Given the description of an element on the screen output the (x, y) to click on. 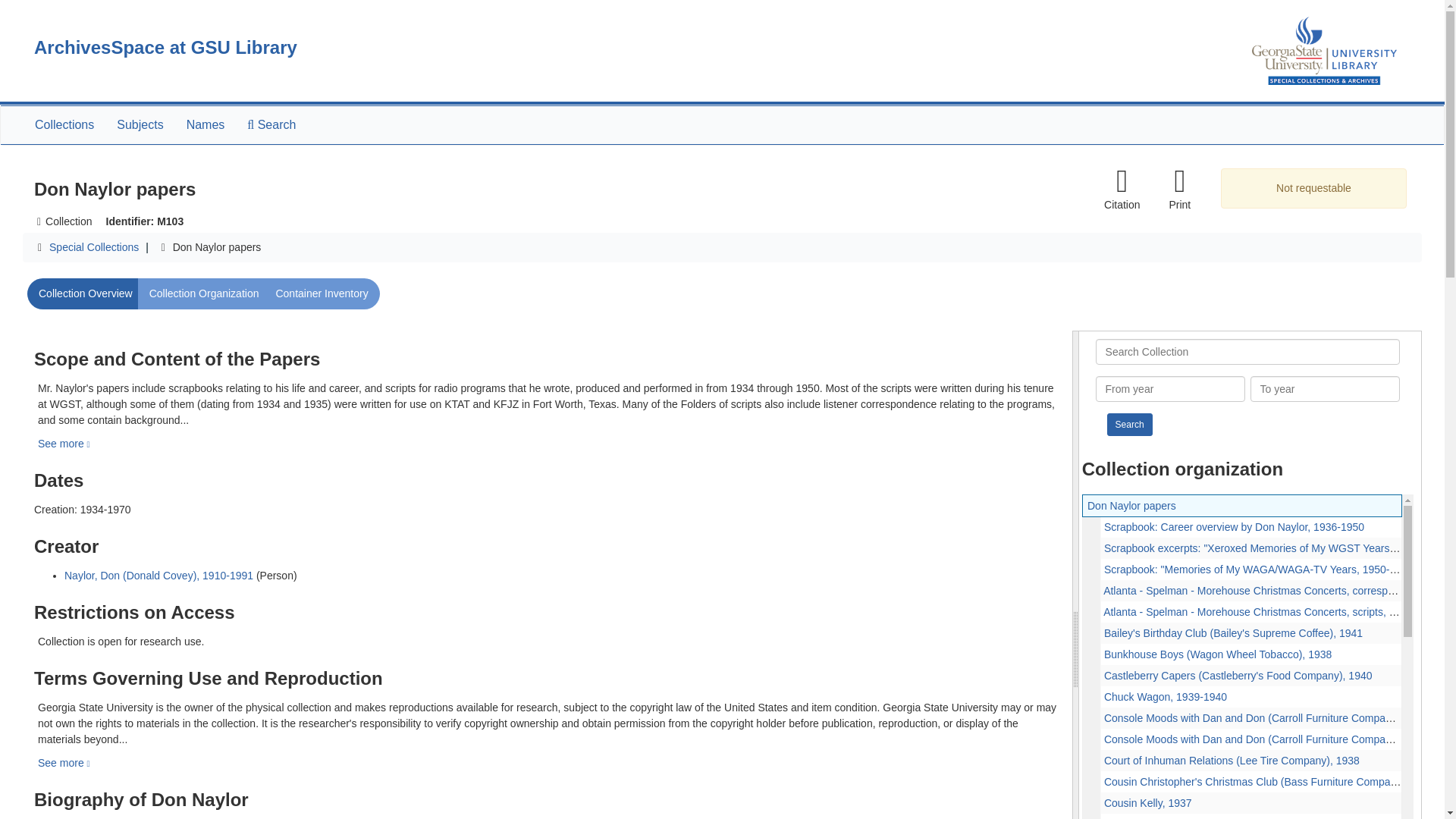
Subjects (139, 125)
Names (204, 125)
Collection Organization (204, 293)
Scrapbook: Career overview by Don Naylor, 1936-1950 (1233, 526)
Special Collections (93, 246)
Return to the ArchivesSpace homepage (165, 46)
Search (1129, 424)
Search the Archives (271, 125)
Atlanta - Spelman - Morehouse Christmas Concerts, scripts (1241, 611)
